Given the description of an element on the screen output the (x, y) to click on. 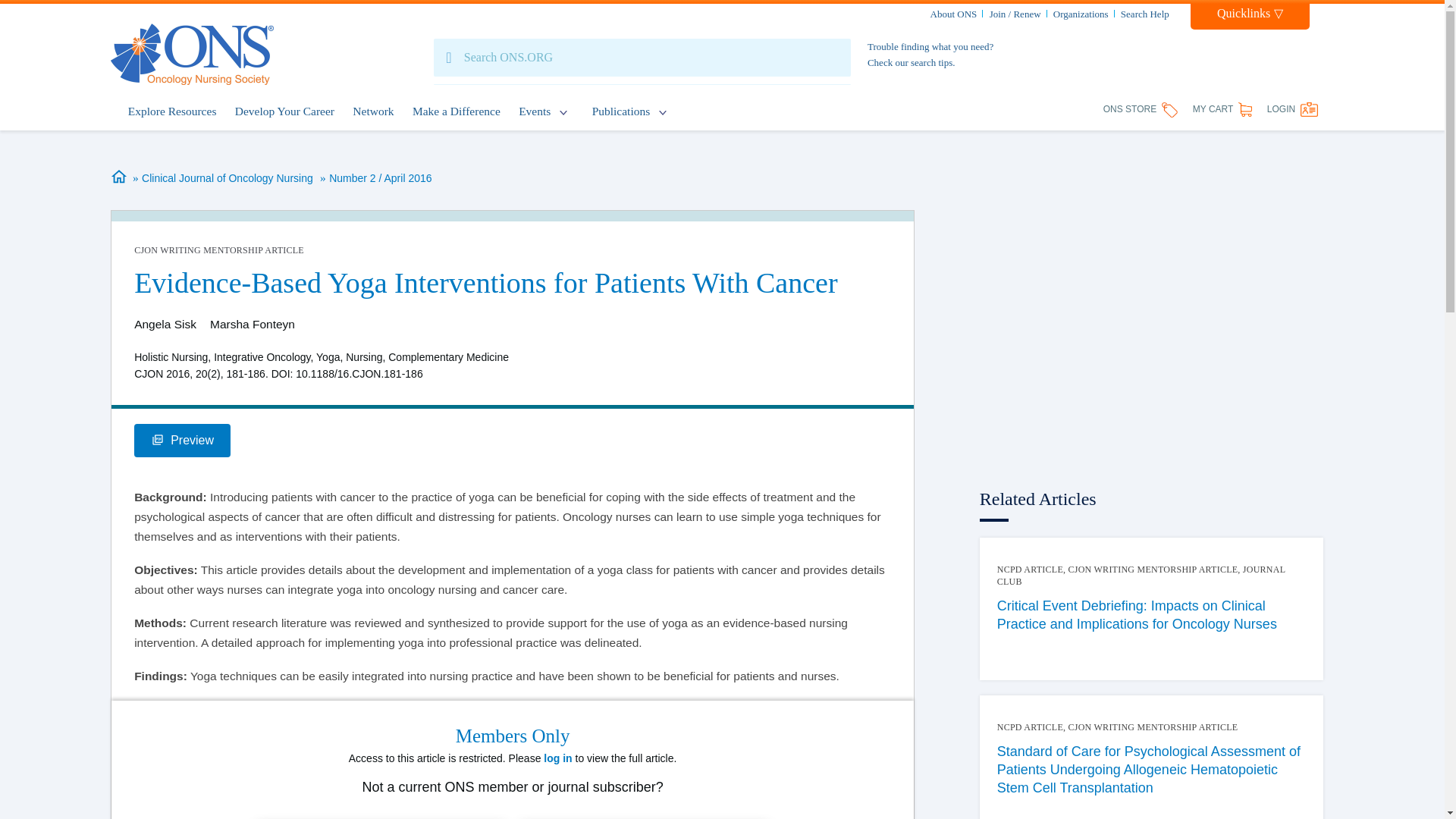
Search Help (1145, 13)
Oncology Nursing Conferences (534, 112)
ONS Homepage (191, 54)
About ONS (953, 13)
3rd party ad content (1150, 312)
Organizations (1080, 13)
Check our search tips. (911, 61)
Trouble finding what you need? (929, 46)
Homepage (119, 177)
Quicklinks (1249, 16)
